Given the description of an element on the screen output the (x, y) to click on. 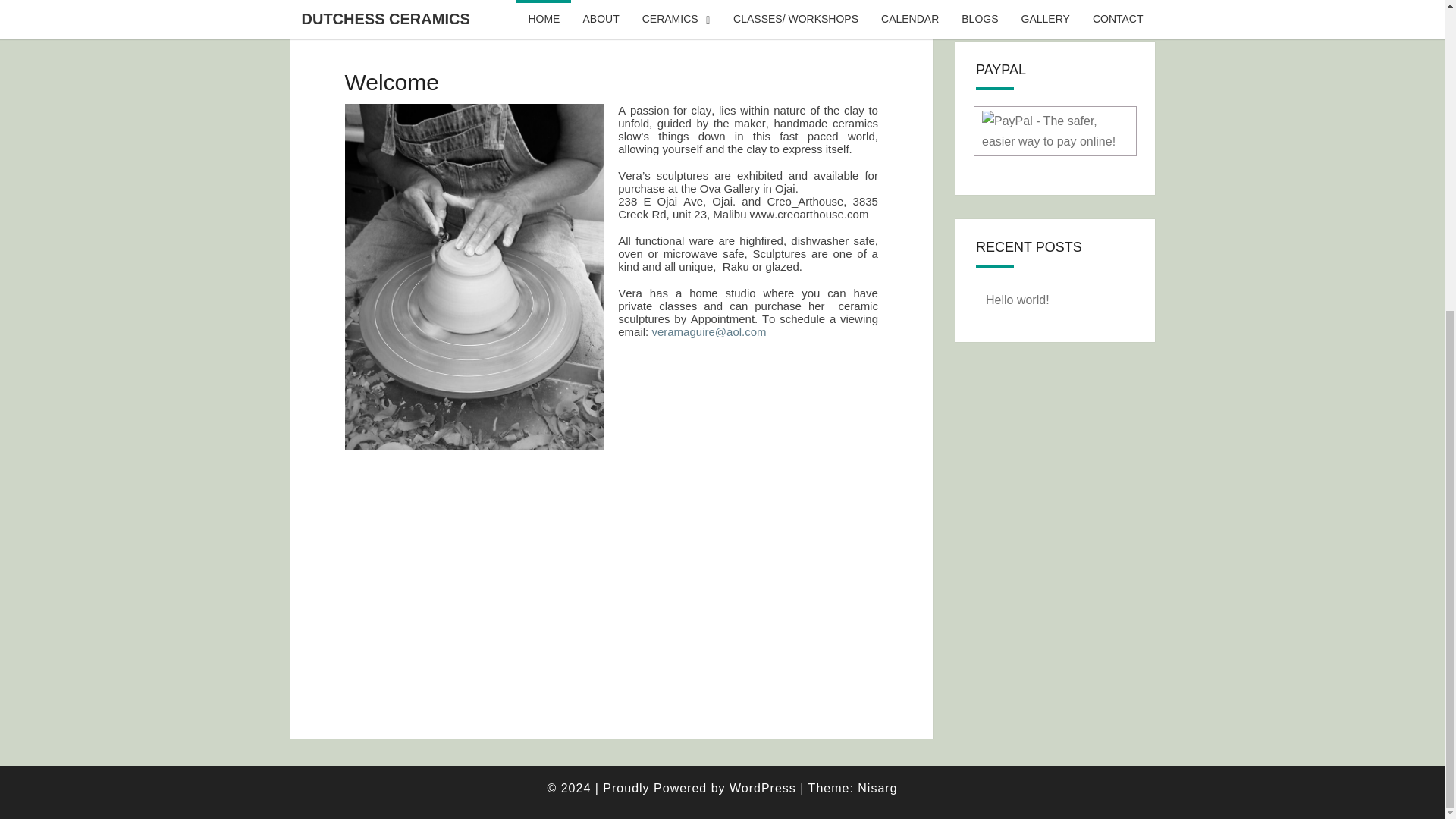
WordPress (762, 788)
YouTube video player (610, 576)
Hello world! (1017, 299)
Nisarg (876, 788)
